Given the description of an element on the screen output the (x, y) to click on. 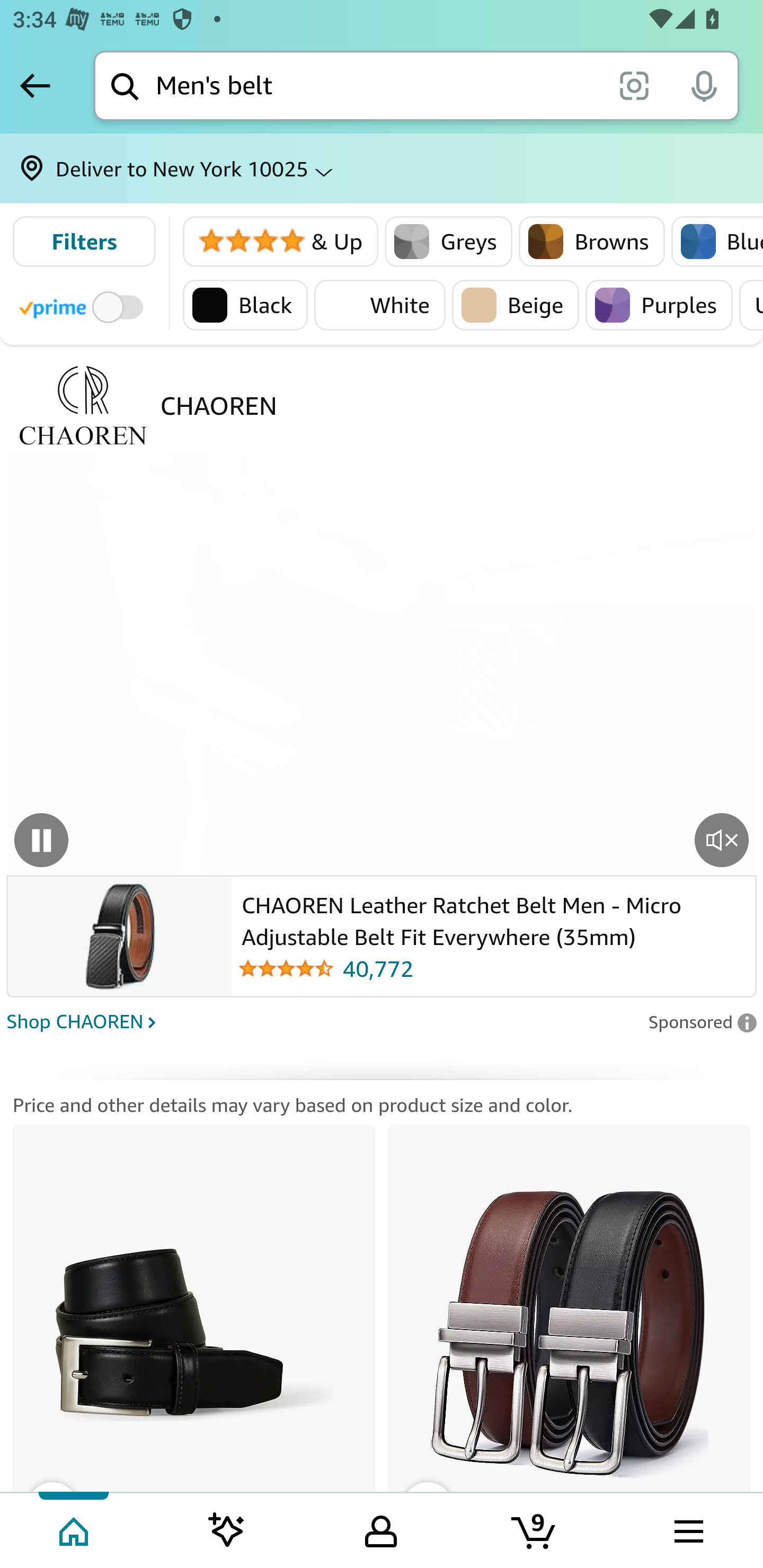
Back (35, 85)
scan it (633, 85)
Deliver to New York 10025 ⌵ (381, 168)
Filters (83, 241)
4 Stars & Up (281, 241)
Greys Greys Greys Greys (448, 241)
Browns Browns Browns Browns (592, 241)
Blues Blues Blues Blues (716, 241)
Toggle to filter by Prime products Prime Eligible (83, 306)
Black Black Black Black (245, 304)
White White White White (379, 304)
Beige Beige Beige Beige (515, 304)
Purples Purples Purples Purples (658, 304)
CHAOREN (218, 404)
Mute Sponsored Video (721, 839)
40,772 (493, 967)
Shop CHAOREN  Shop  CHAOREN  (321, 1019)
Leave feedback on Sponsored ad (701, 1022)
Home Tab 1 of 5 (75, 1529)
Inspire feed Tab 2 of 5 (227, 1529)
Your Amazon.com Tab 3 of 5 (380, 1529)
Cart 9 items Tab 4 of 5 9 (534, 1529)
Browse menu Tab 5 of 5 (687, 1529)
